Given the description of an element on the screen output the (x, y) to click on. 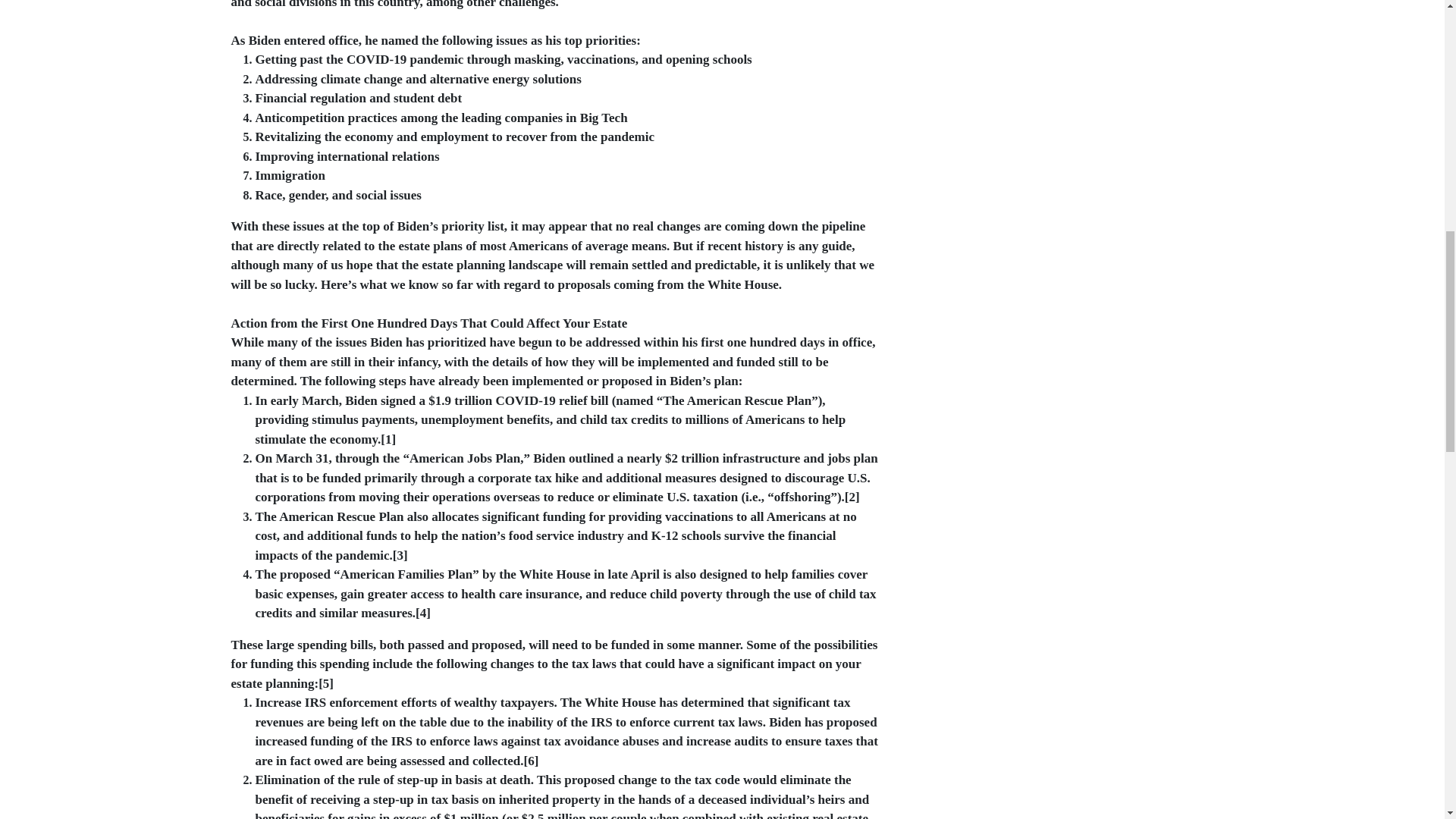
Client Focused Newsletter (965, 1)
